Given the description of an element on the screen output the (x, y) to click on. 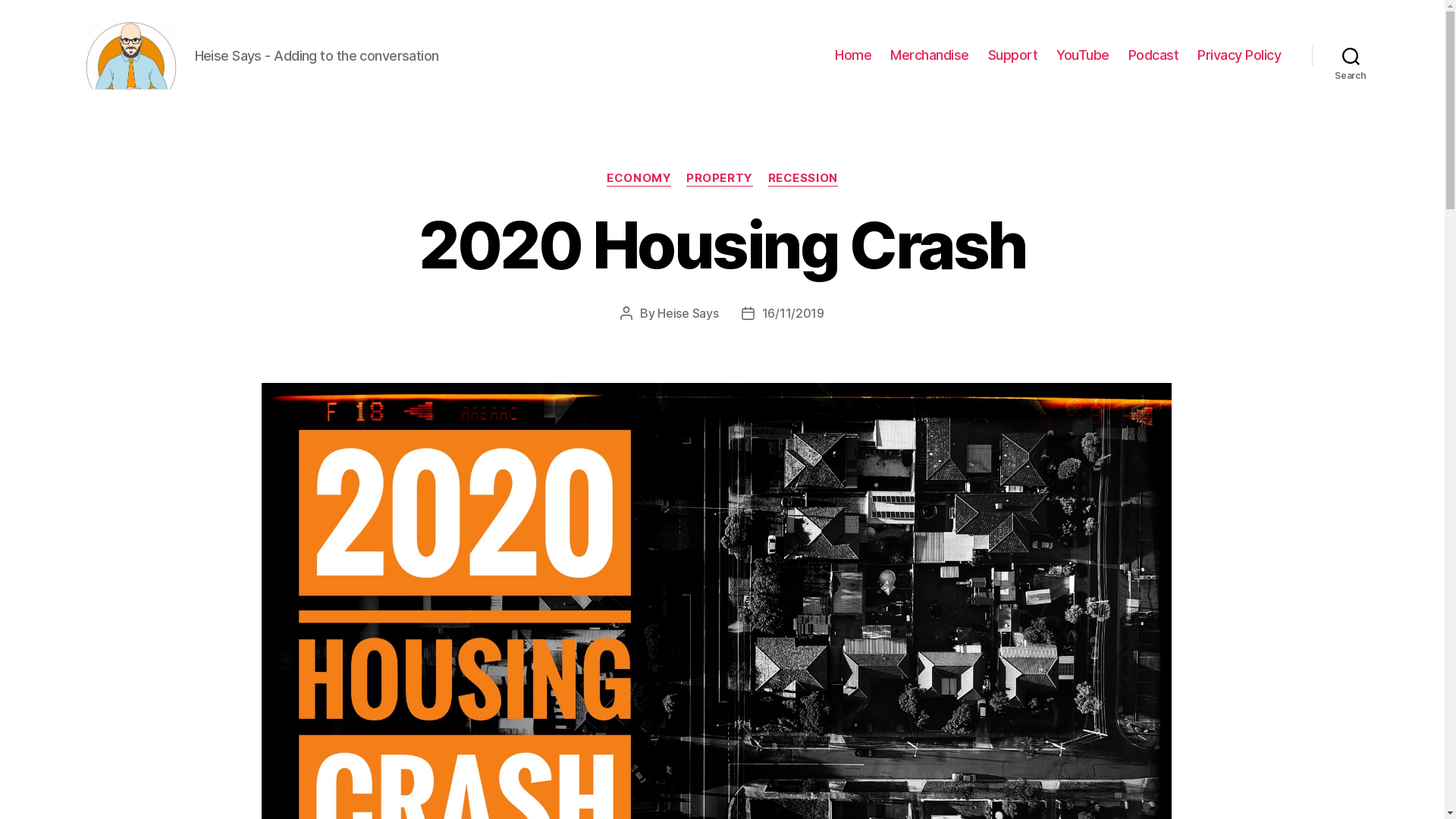
Search Element type: text (1350, 55)
Podcast Element type: text (1153, 55)
Heise Says Element type: text (687, 312)
YouTube Element type: text (1082, 55)
Support Element type: text (1013, 55)
Privacy Policy Element type: text (1238, 55)
RECESSION Element type: text (802, 178)
Home Element type: text (852, 55)
16/11/2019 Element type: text (793, 312)
PROPERTY Element type: text (719, 178)
Merchandise Element type: text (929, 55)
ECONOMY Element type: text (638, 178)
